Given the description of an element on the screen output the (x, y) to click on. 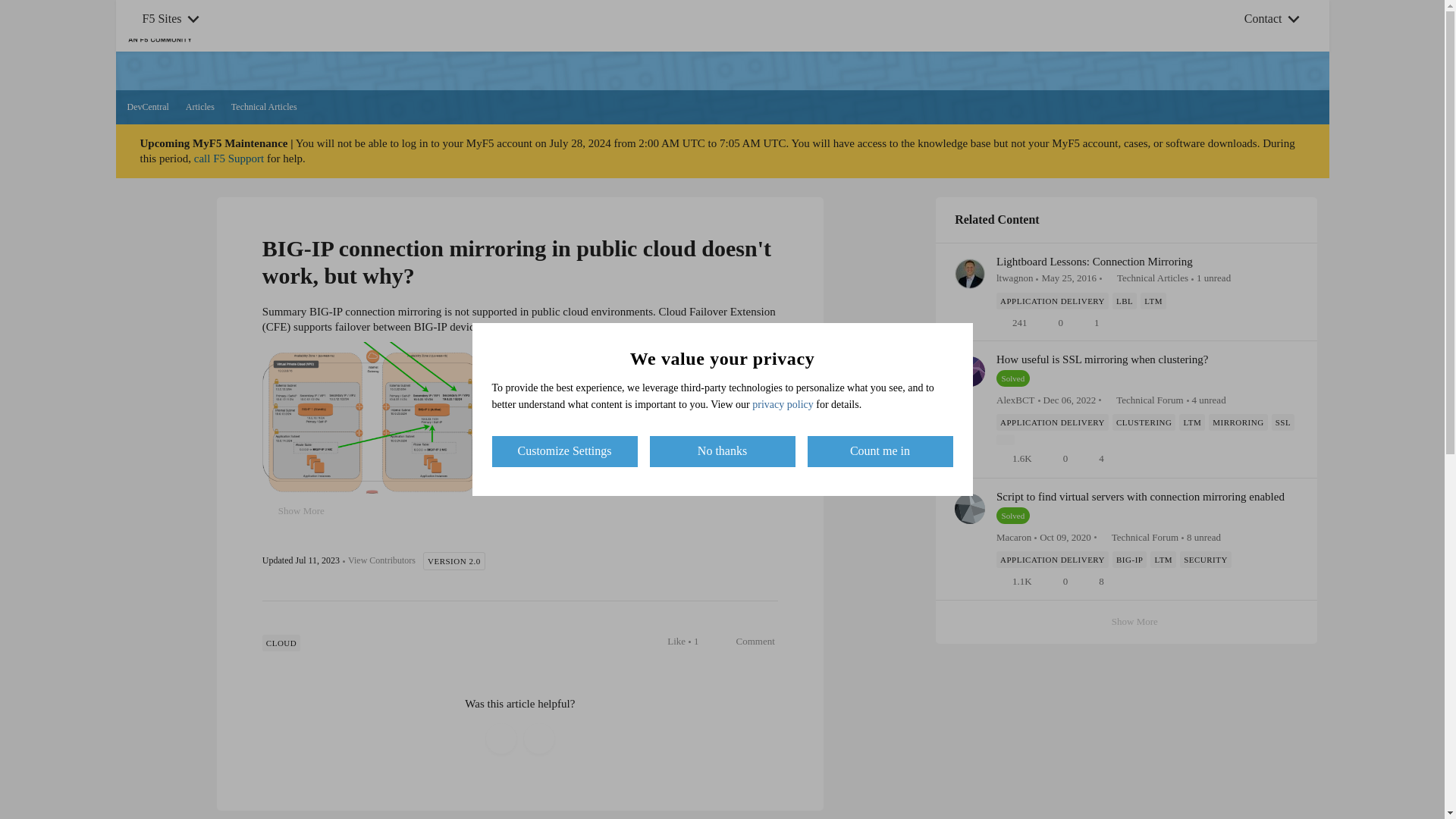
Forums (555, 25)
Groups (782, 25)
How useful is SSL mirroring when clustering? (1101, 359)
December 6, 2022 at 5:38 AM (1069, 399)
DevCentral (148, 107)
July 11, 2023 at 6:13 AM (317, 560)
call F5 Support (228, 158)
Show More (1126, 621)
Comment (747, 641)
Technical Articles (264, 107)
Show More (1004, 439)
View Contributors (380, 561)
Events (846, 25)
October 9, 2020 at 11:10 PM (1064, 536)
Suggestions (913, 25)
